Given the description of an element on the screen output the (x, y) to click on. 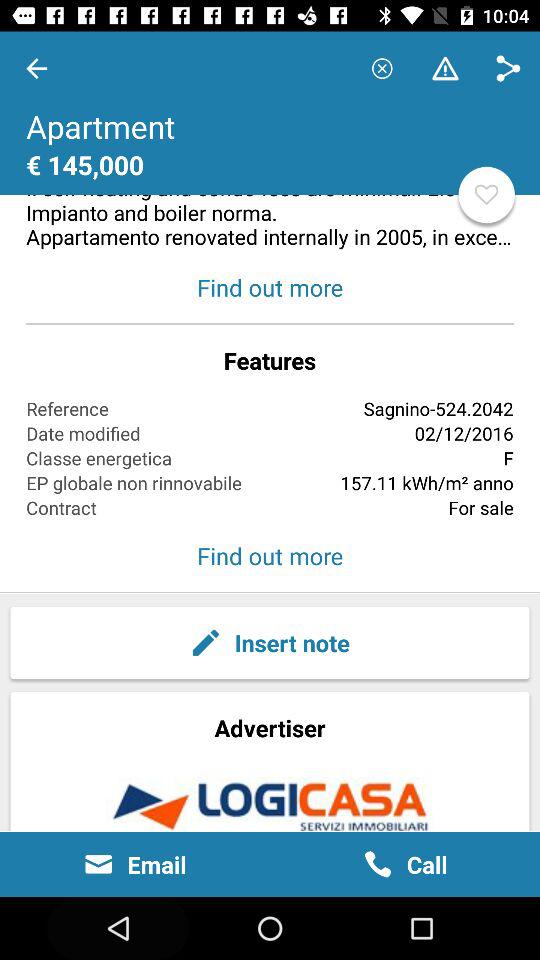
launch the item above the find out more item (270, 141)
